Given the description of an element on the screen output the (x, y) to click on. 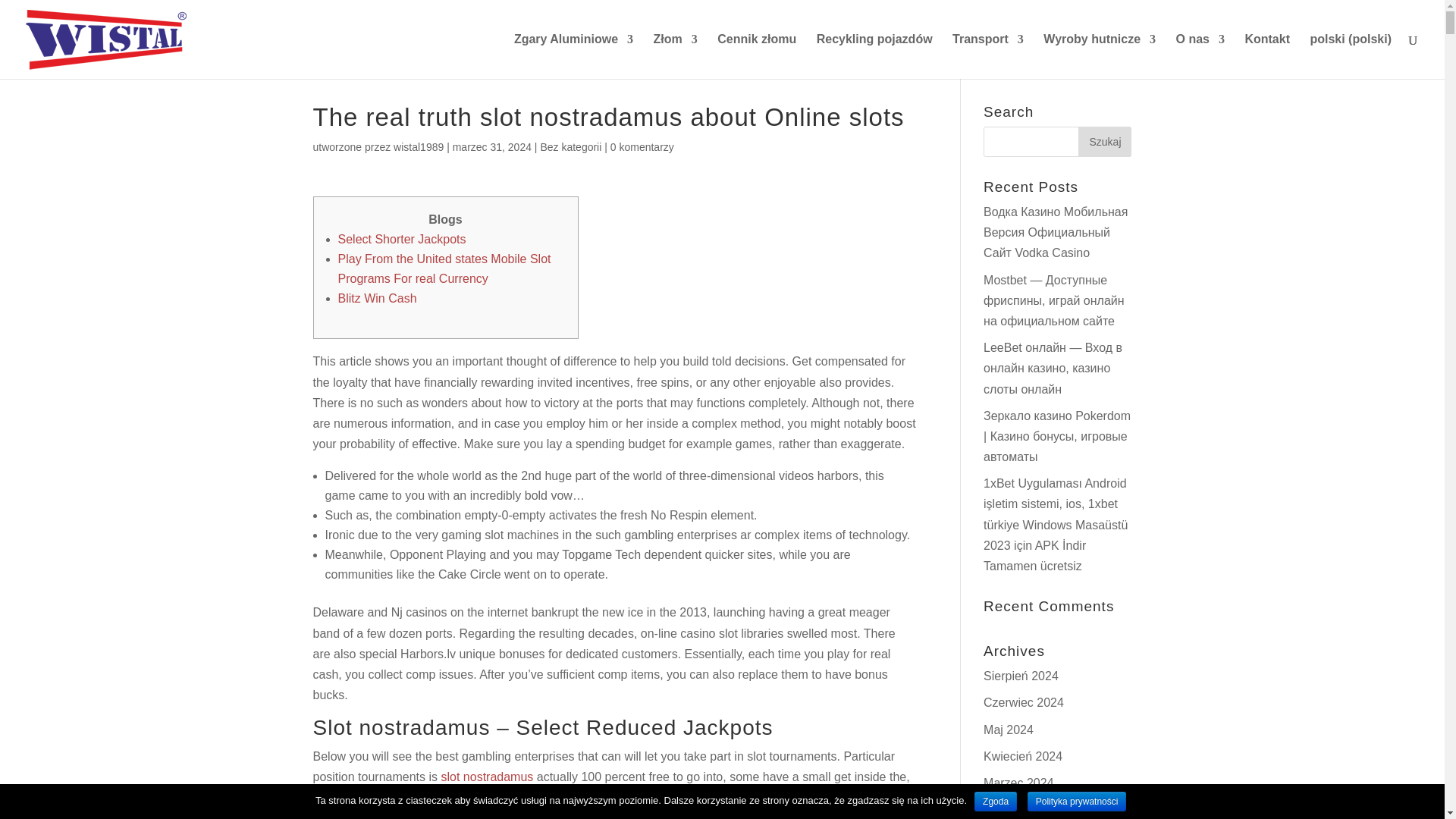
Transport (987, 56)
Szukaj (1104, 141)
Zgary Aluminiowe (573, 56)
O nas (1199, 56)
Wyroby hutnicze (1099, 56)
Wpisy wistal1989 (418, 146)
Kontakt (1267, 56)
polski (1349, 56)
